Given the description of an element on the screen output the (x, y) to click on. 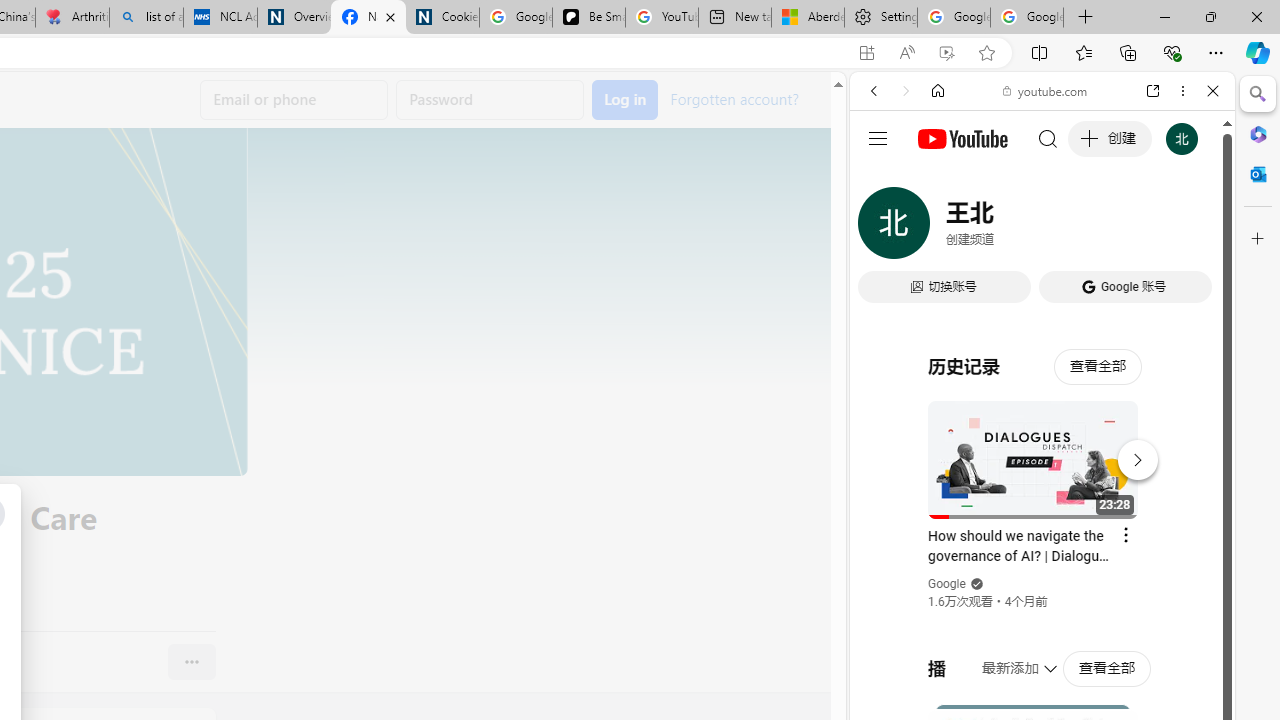
Accessible login button (625, 99)
Enhance video (946, 53)
SEARCH TOOLS (1093, 228)
This site scope (936, 180)
